Given the description of an element on the screen output the (x, y) to click on. 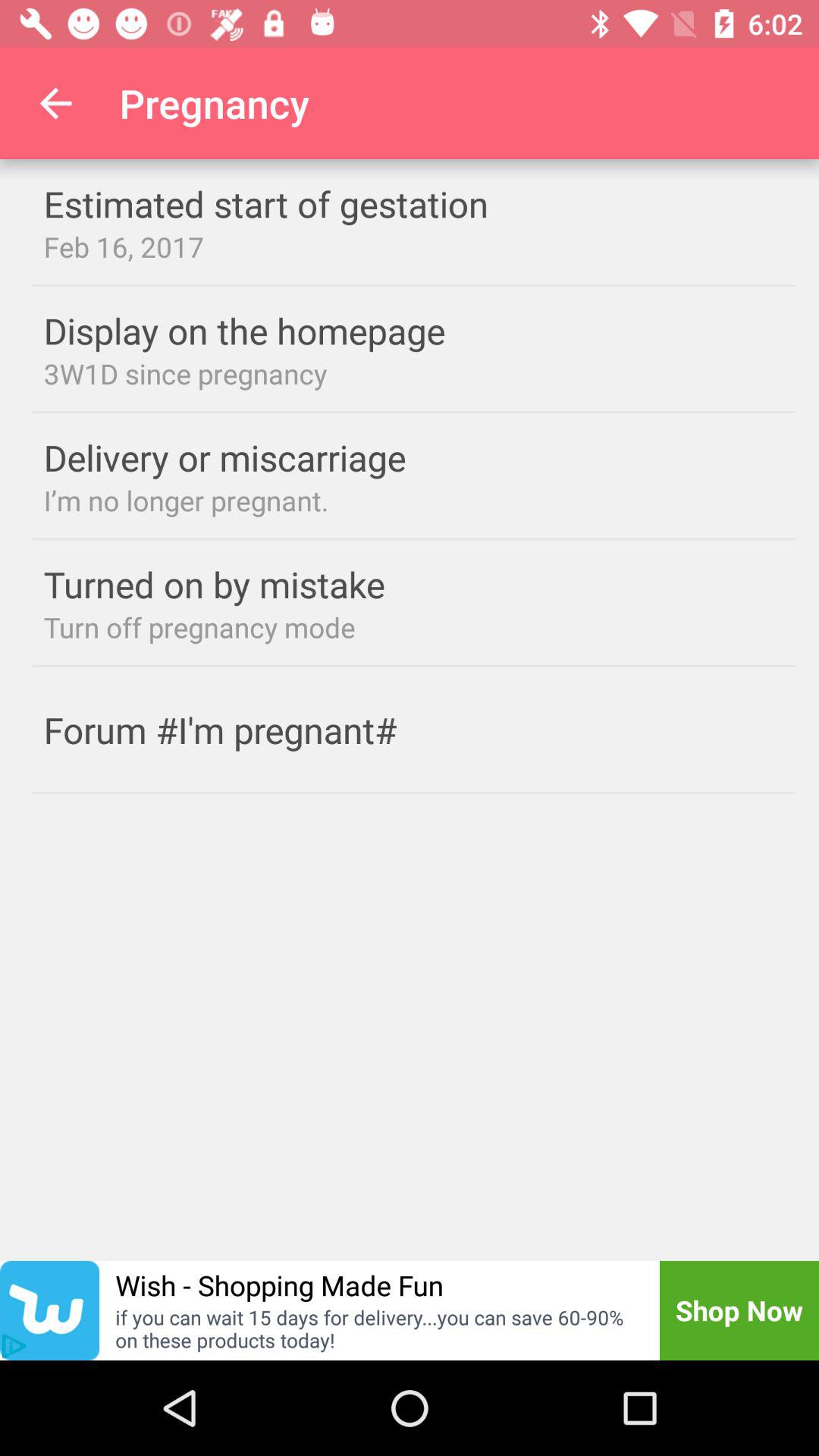
launch the item above estimated start of (55, 103)
